Given the description of an element on the screen output the (x, y) to click on. 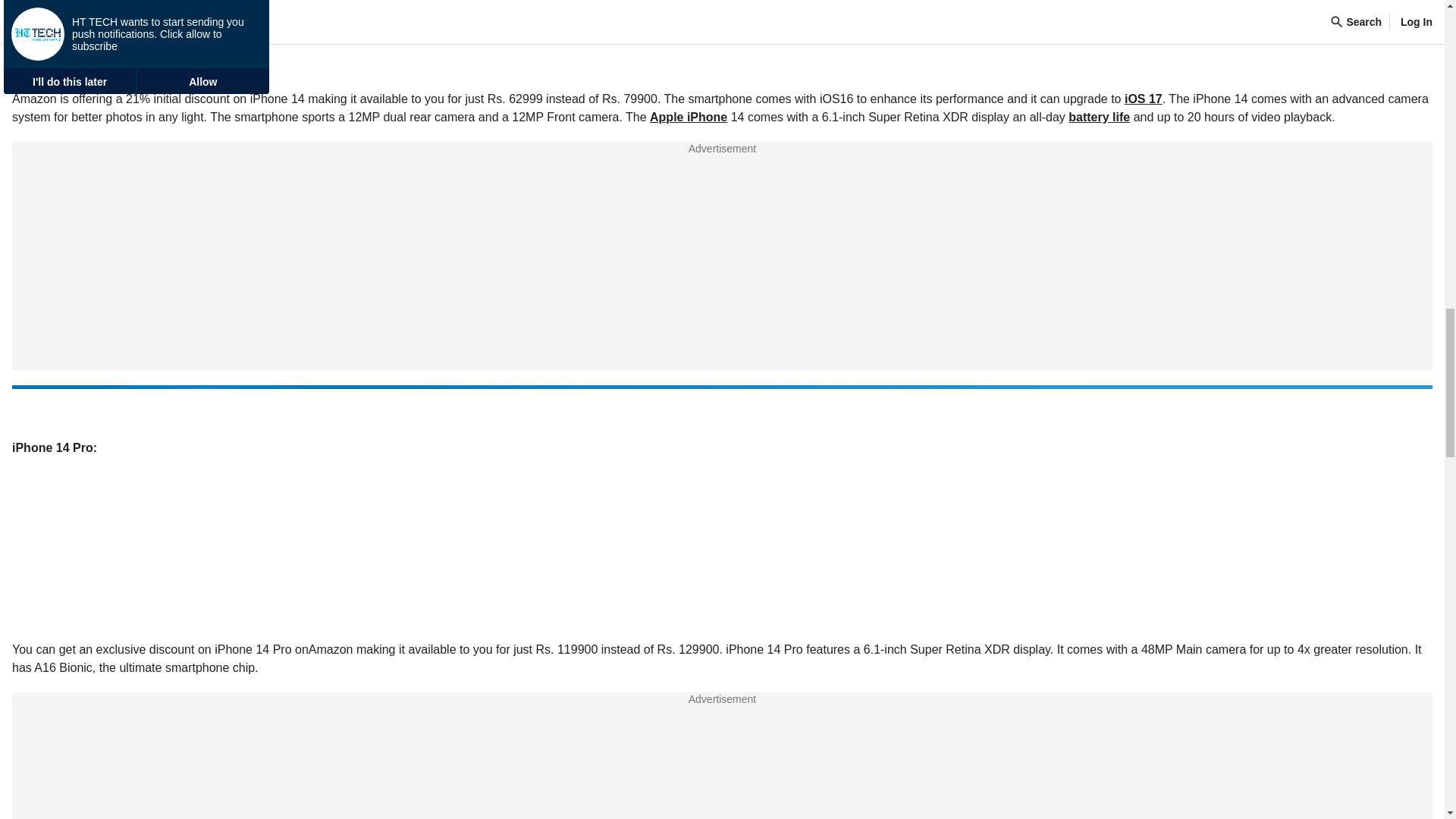
Mobile Finder (722, 715)
Get to Know more about from India and around the world. (722, 715)
Mobile Compare (722, 798)
Get to Know more about from India and around the world. (722, 756)
Mobile News (722, 631)
Mobile Reviews (722, 673)
Mobile Recommender (722, 756)
Get to Know more about from India and around the world. (722, 798)
